Given the description of an element on the screen output the (x, y) to click on. 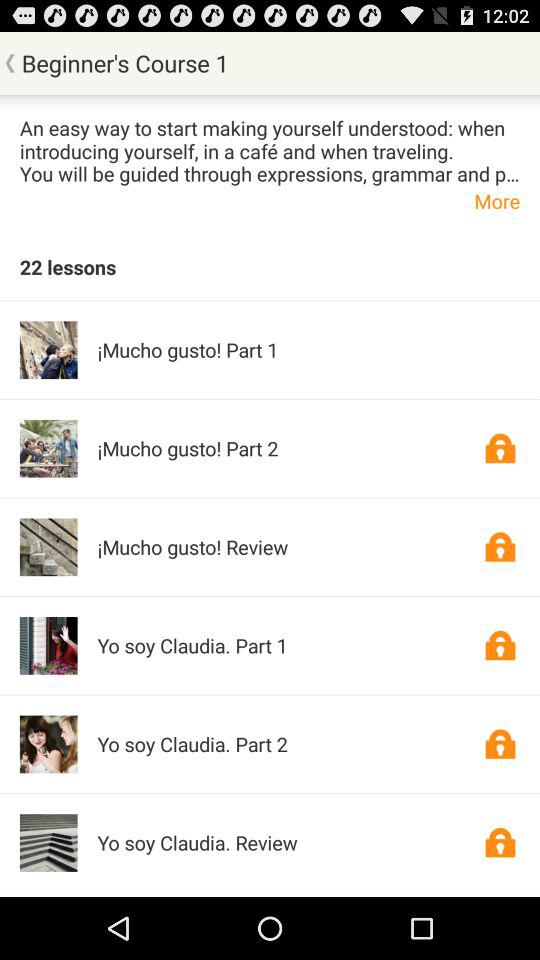
turn on the 22 lessons app (67, 266)
